Given the description of an element on the screen output the (x, y) to click on. 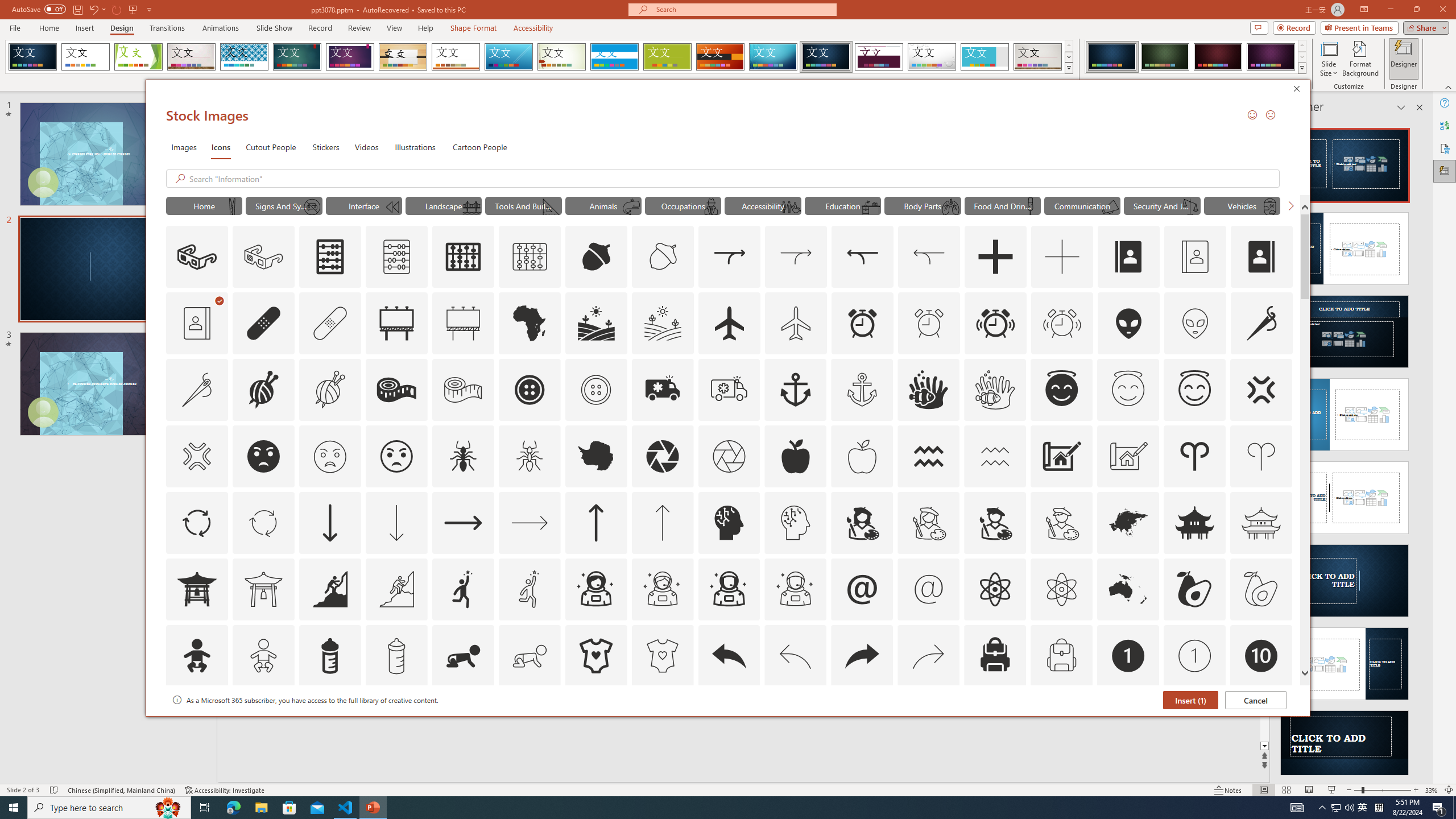
"Tools And Building" Icons. (523, 205)
AutomationID: Icons_ArrowDown (329, 522)
AutomationID: Icons_ArtificialIntelligence (729, 522)
Frame (984, 56)
AutomationID: Icons_AlterationsTailoring2_M (462, 389)
"Communication" Icons. (1082, 205)
